Given the description of an element on the screen output the (x, y) to click on. 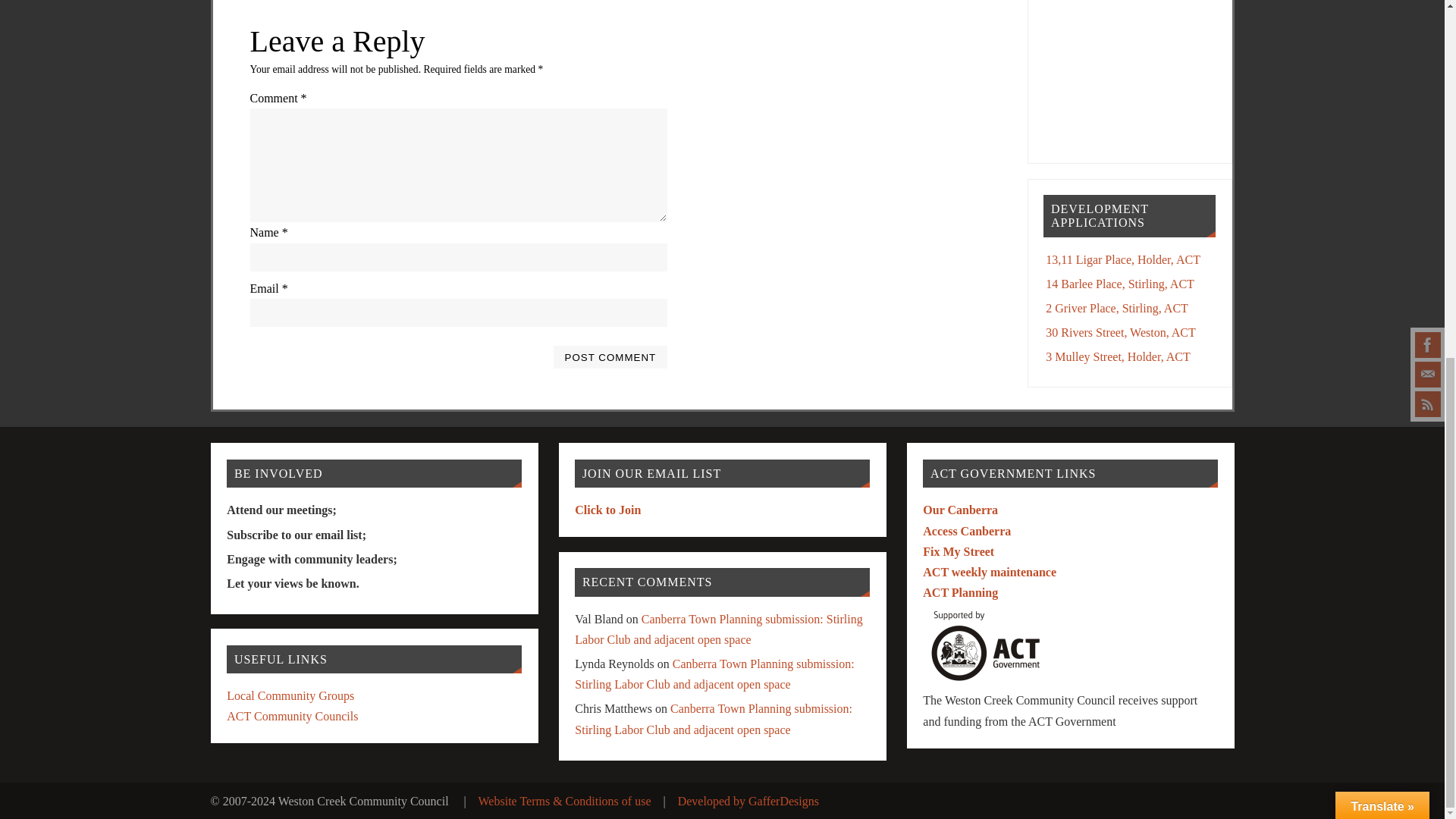
13,11 Ligar Place, Holder, ACT (1122, 259)
Post Comment (609, 356)
14 Barlee Place, Stirling, ACT (1119, 283)
Post Comment (609, 356)
